Given the description of an element on the screen output the (x, y) to click on. 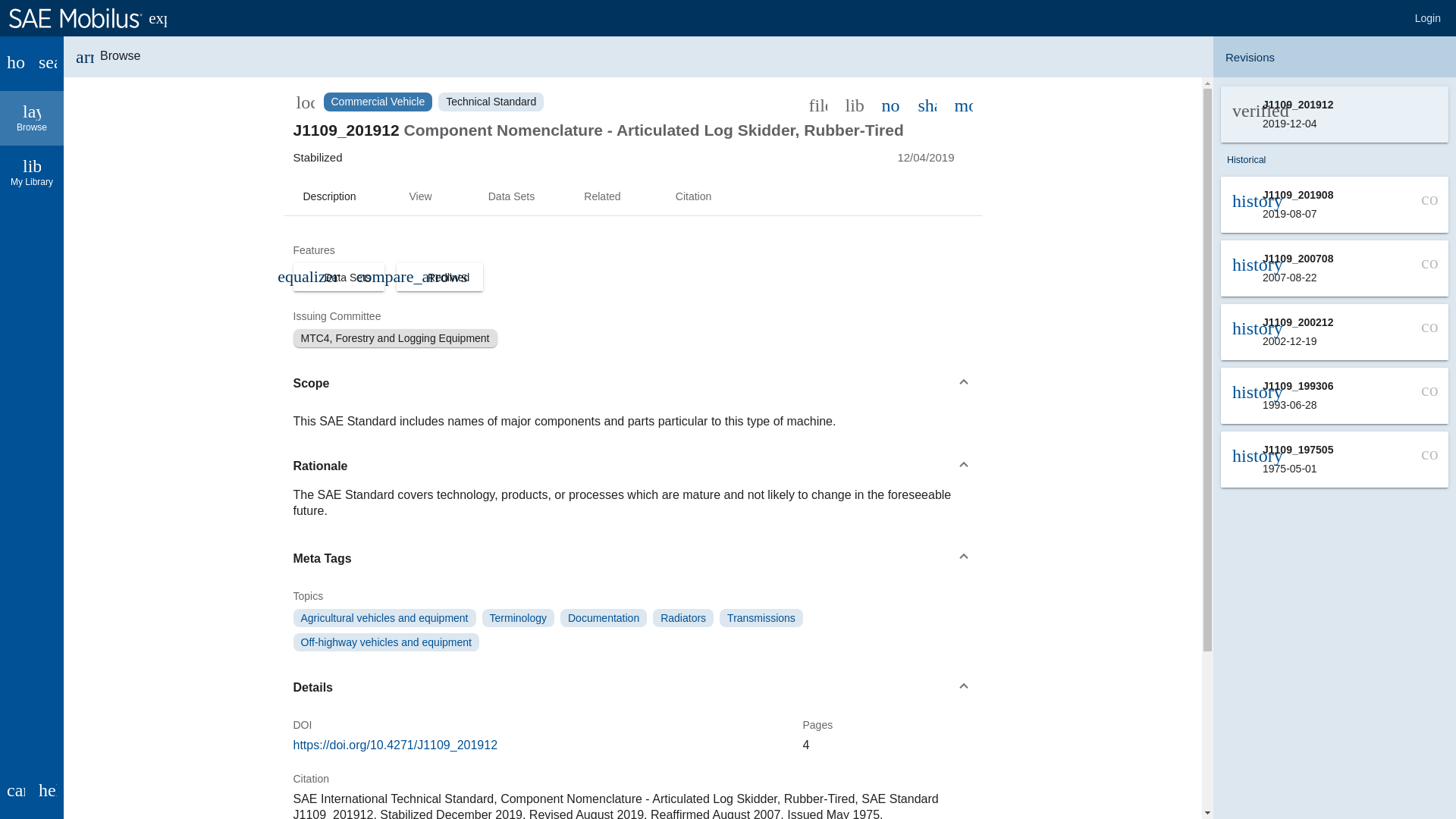
Description (328, 197)
Commercial Vehicle (377, 101)
lock (304, 101)
Redlined (445, 277)
Documentation (338, 276)
Off-highway vehicles and equipment (603, 618)
share (385, 642)
Terminology (926, 104)
Radiators (517, 618)
View (682, 618)
Citation (419, 197)
Login (692, 197)
Agricultural vehicles and equipment (1428, 17)
Browse MTC4, Forestry and Logging Equipment Content (384, 618)
